Given the description of an element on the screen output the (x, y) to click on. 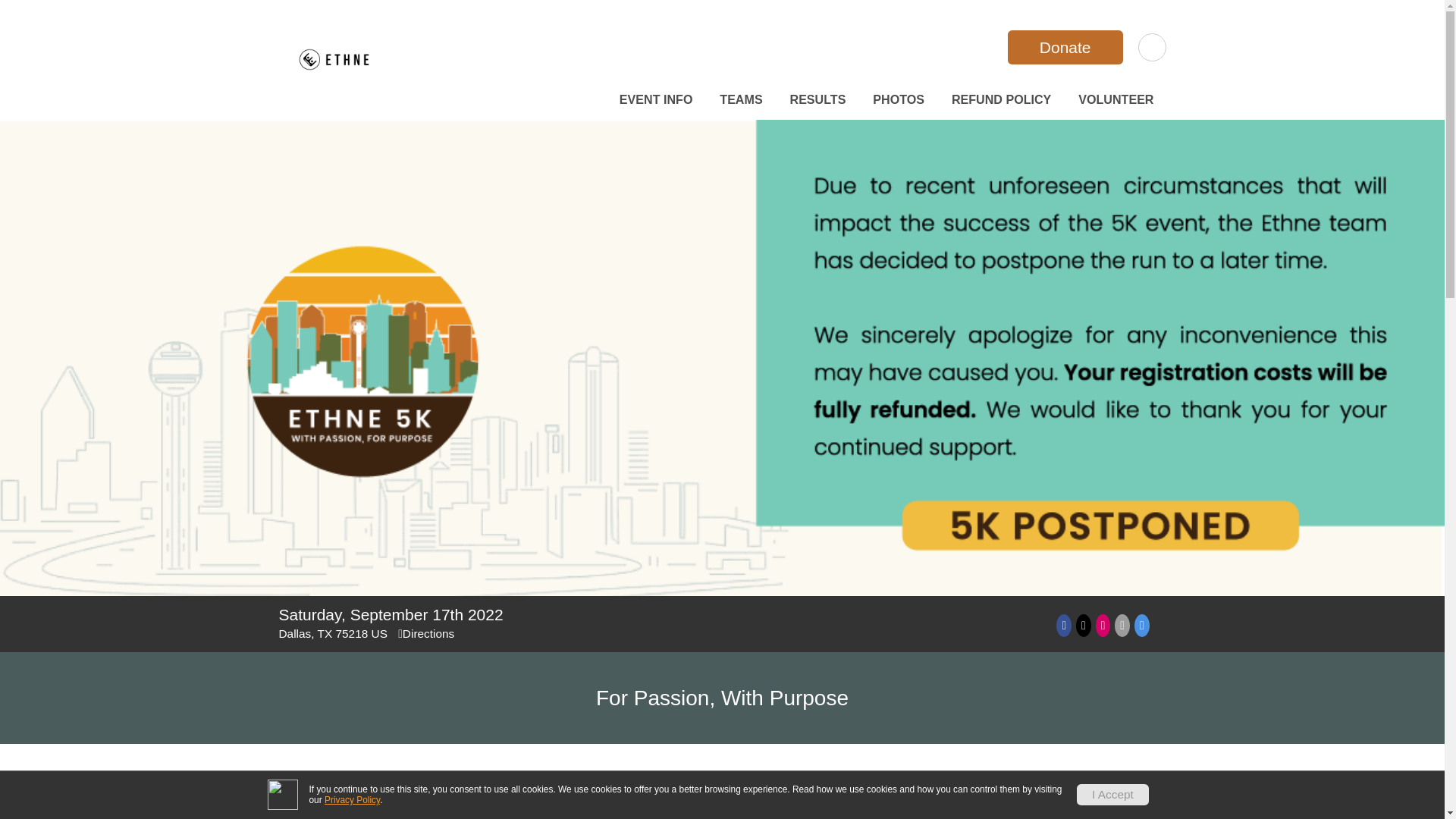
EVENT INFO (655, 98)
RESULTS (818, 98)
Directions (425, 633)
VOLUNTEER (1115, 98)
REFUND POLICY (1000, 98)
PHOTOS (897, 98)
TEAMS (740, 98)
Donate (1064, 47)
